Given the description of an element on the screen output the (x, y) to click on. 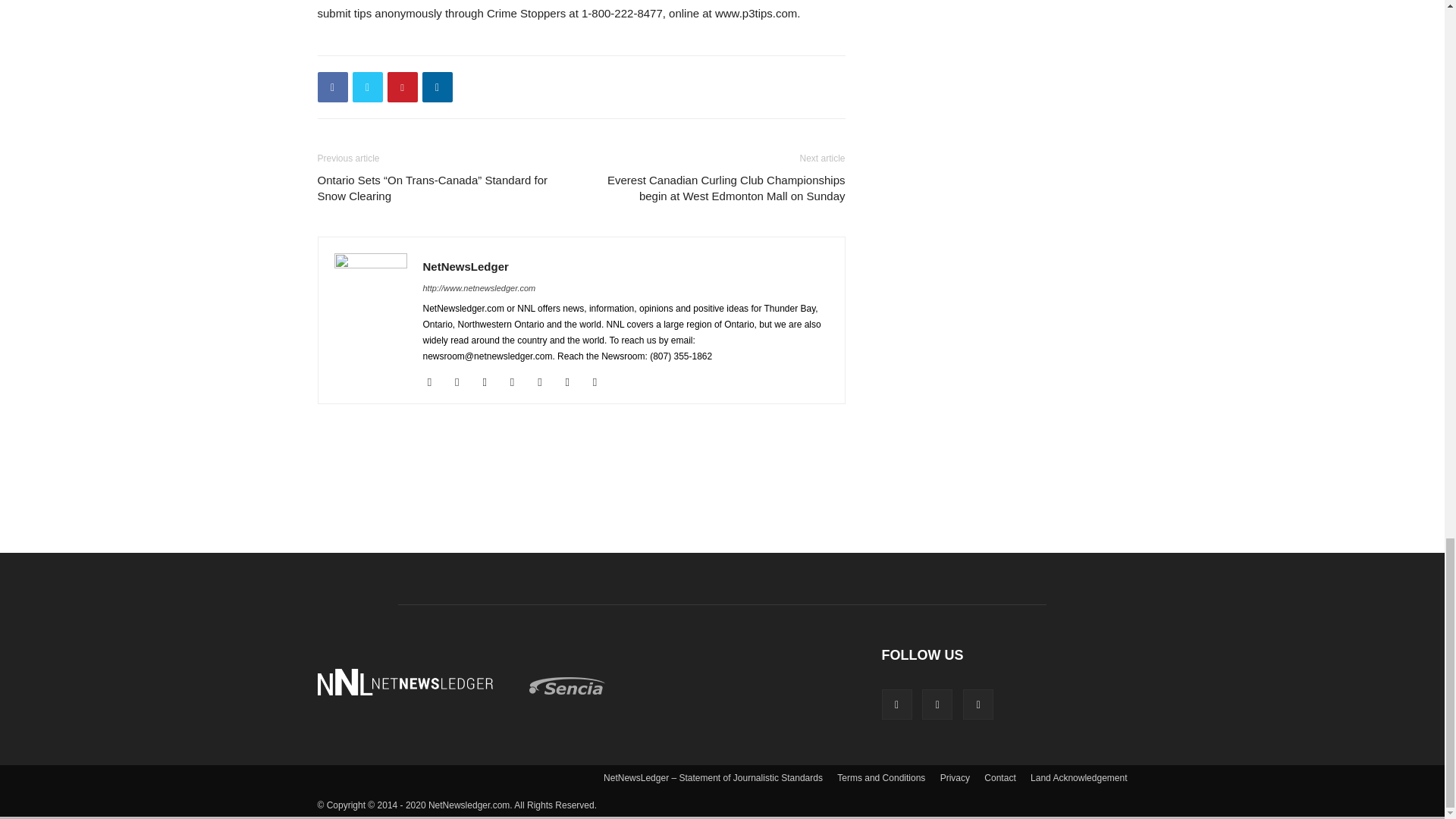
Facebook (332, 87)
Pinterest (401, 87)
Twitter (366, 87)
Linkedin (436, 87)
